Given the description of an element on the screen output the (x, y) to click on. 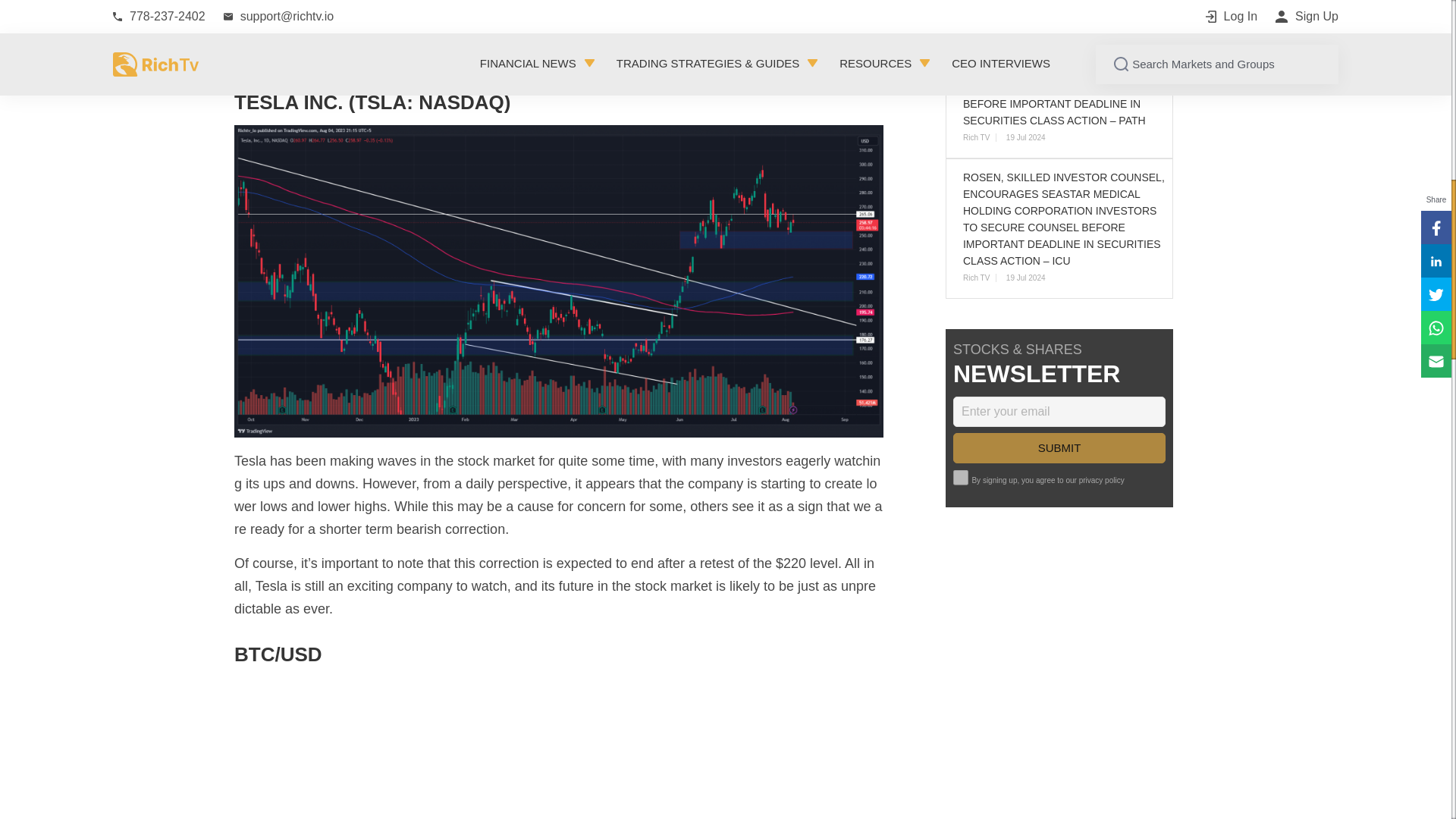
on (960, 476)
